Given the description of an element on the screen output the (x, y) to click on. 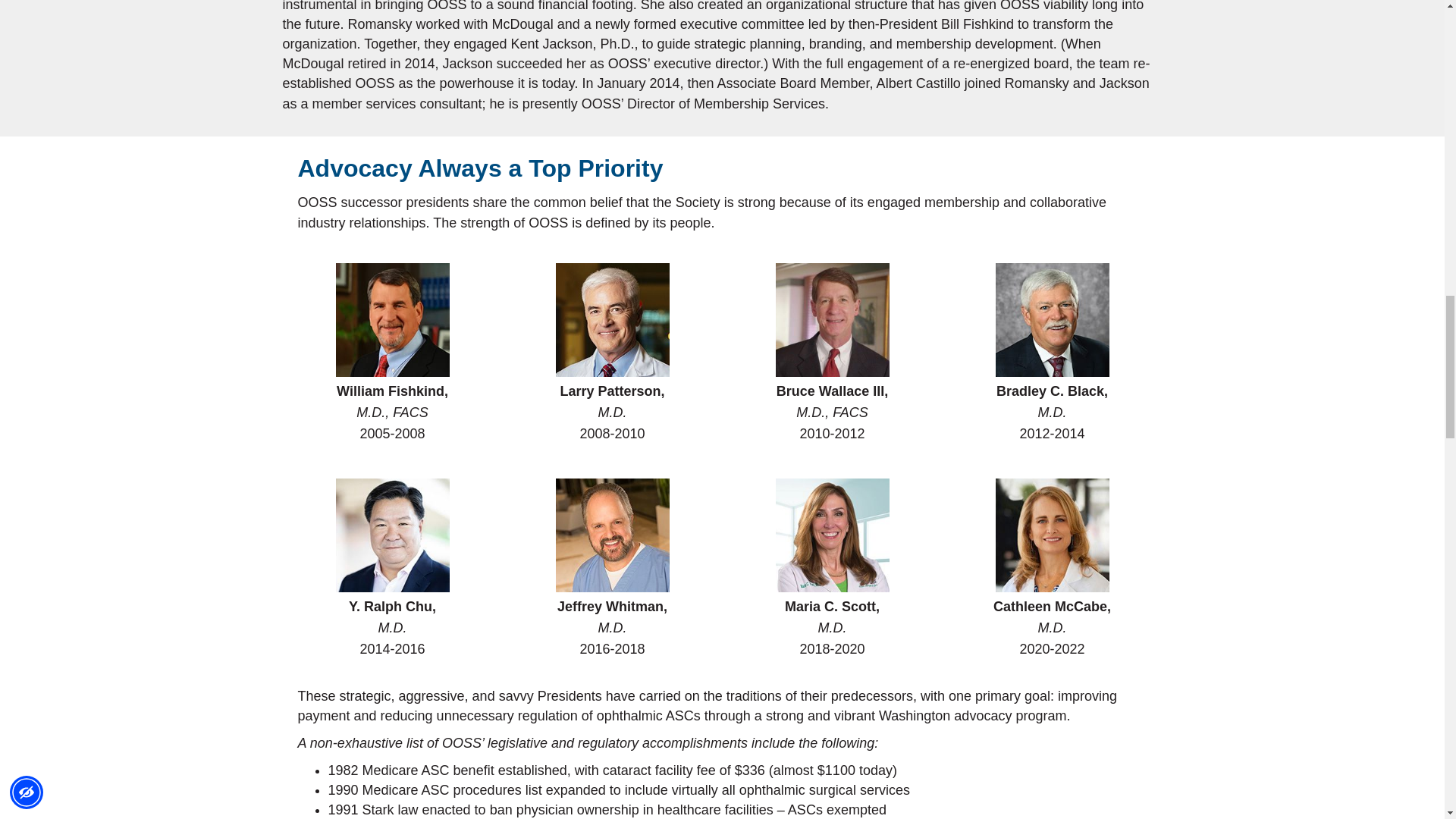
William J. Fishkind M.D., F.A.C.S. (391, 319)
Larry Patterson, M.D. (611, 319)
R. Bruce Wallace, III, M.D., F.A.C.S. (831, 319)
